Given the description of an element on the screen output the (x, y) to click on. 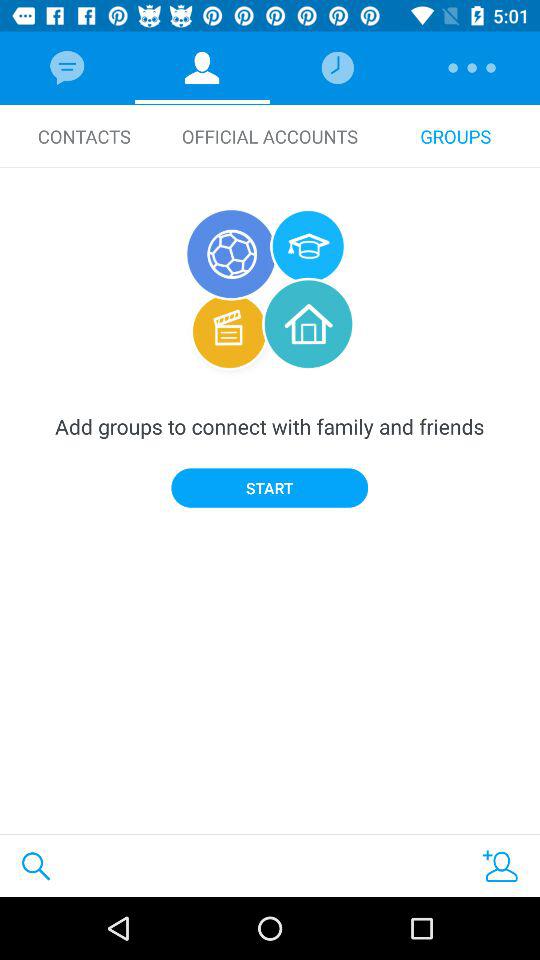
swipe to the start item (269, 487)
